Given the description of an element on the screen output the (x, y) to click on. 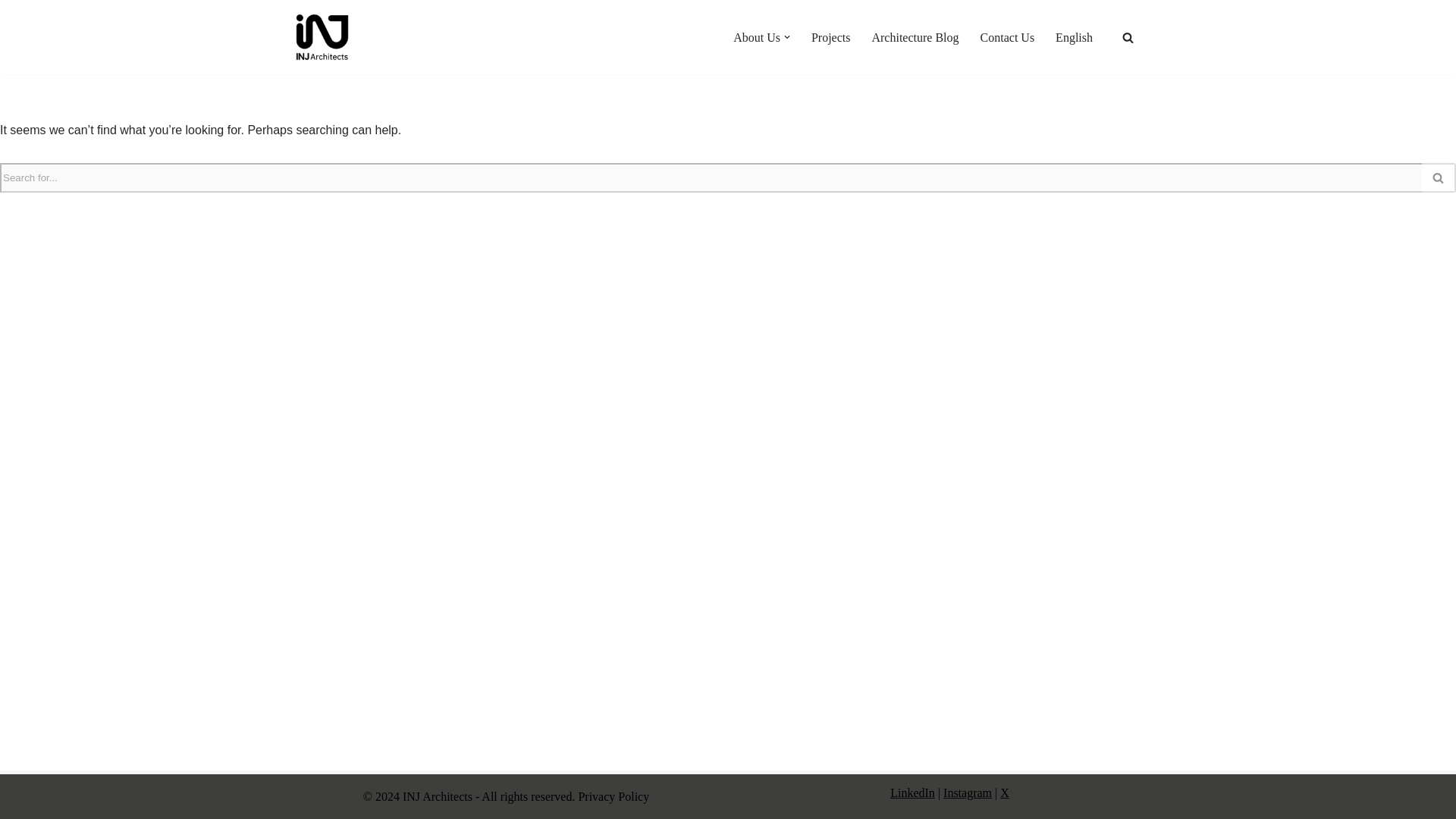
Projects (830, 37)
English (1074, 37)
About Us (756, 37)
Skip to content (11, 31)
Architecture Blog (914, 37)
Instagram (967, 792)
LinkedIn (911, 792)
Privacy Policy (613, 796)
Contact Us (1007, 37)
